Given the description of an element on the screen output the (x, y) to click on. 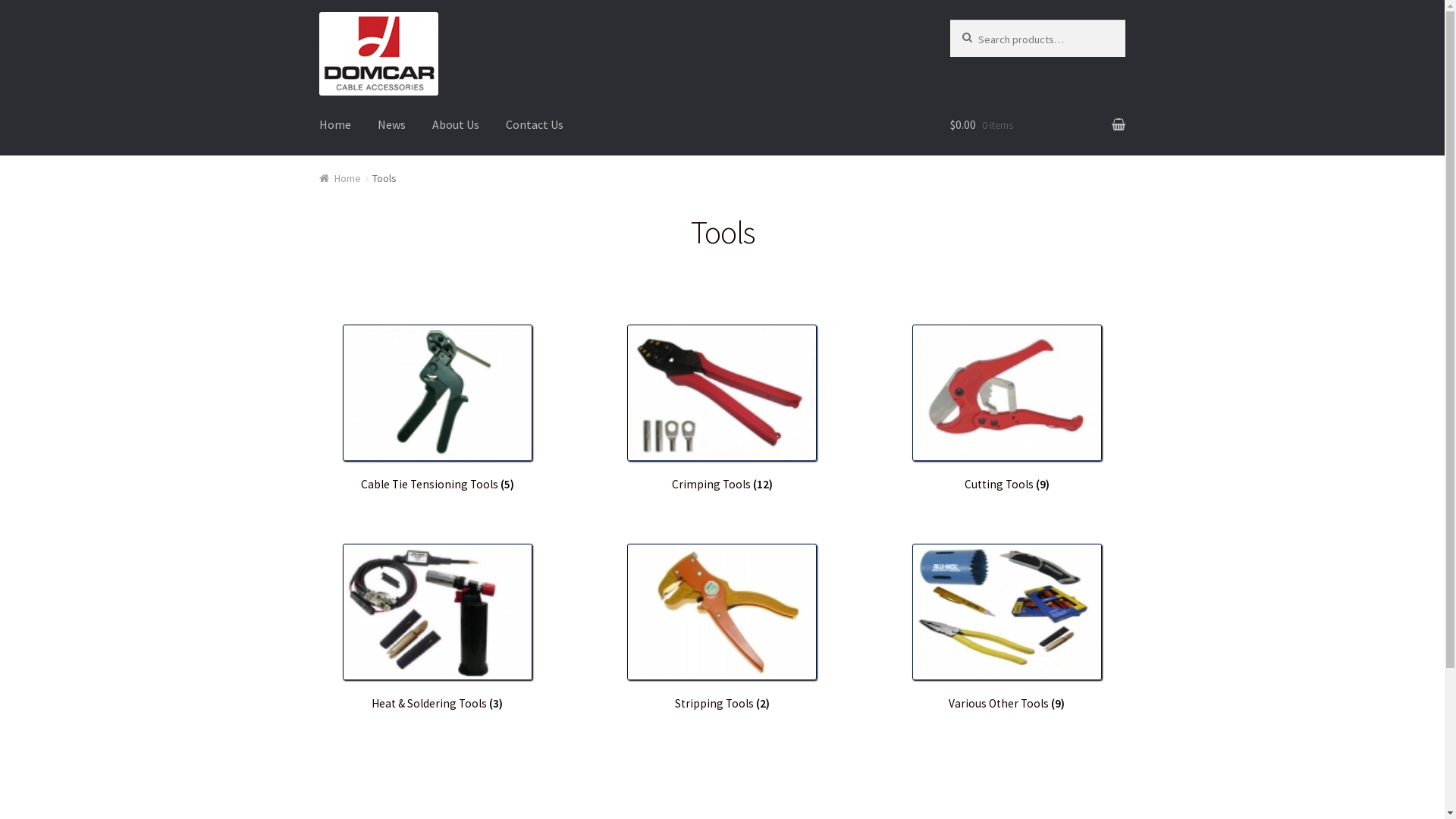
Cutting Tools (9) Element type: text (1007, 408)
Stripping Tools (2) Element type: text (721, 627)
News Element type: text (391, 124)
$0.00 0 items Element type: text (1037, 124)
Crimping Tools (12) Element type: text (721, 408)
About Us Element type: text (455, 124)
Search Element type: text (981, 34)
Heat & Soldering Tools (3) Element type: text (437, 627)
Various Other Tools (9) Element type: text (1007, 627)
Home Element type: text (340, 178)
Cable Tie Tensioning Tools (5) Element type: text (437, 408)
Skip to navigation Element type: text (318, 11)
Contact Us Element type: text (534, 124)
Home Element type: text (335, 124)
